Given the description of an element on the screen output the (x, y) to click on. 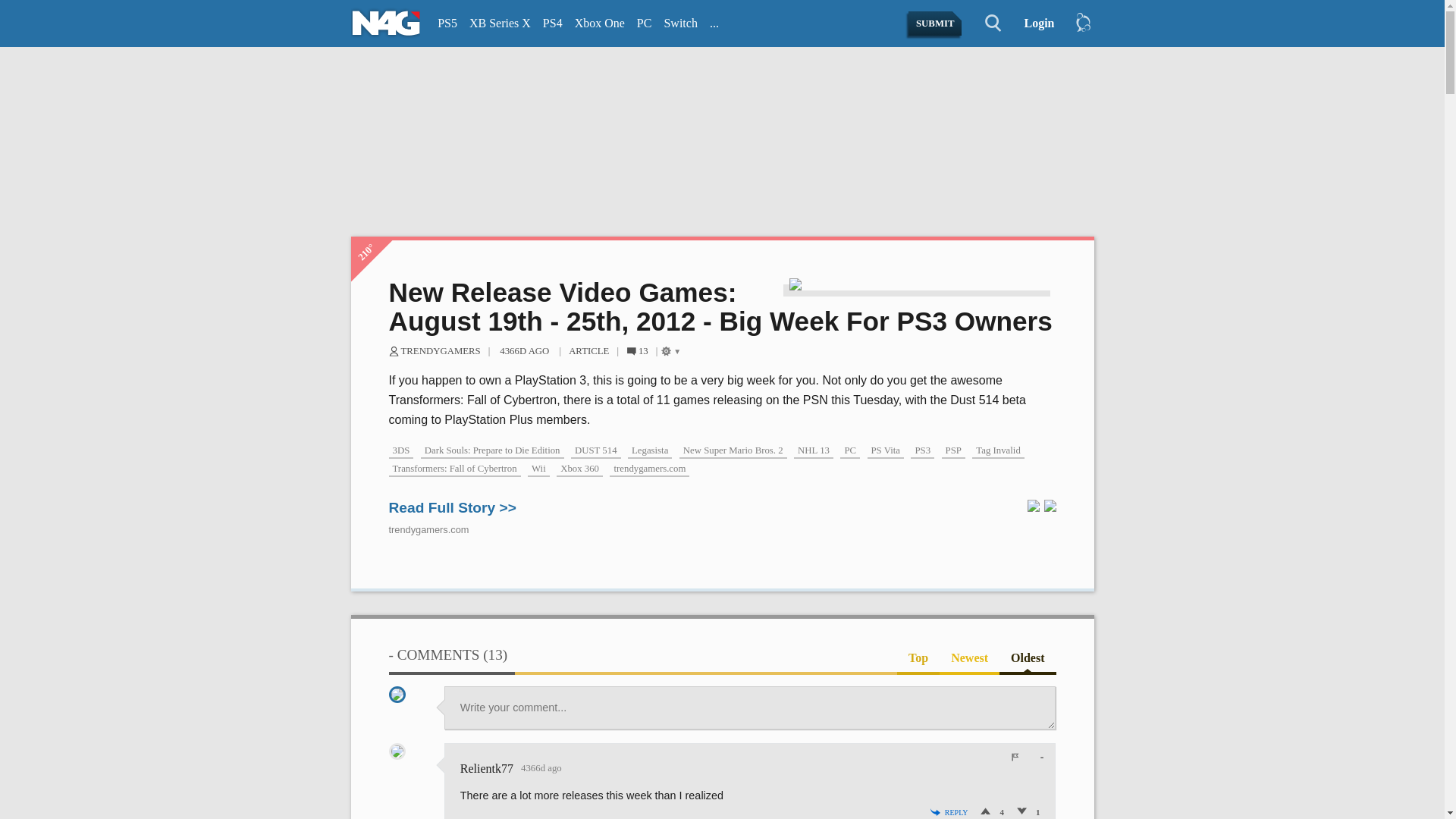
Login (1033, 23)
Search (984, 23)
SUBMIT (935, 23)
PC (644, 24)
XB Series X (500, 24)
Xbox One (599, 24)
PS4 (553, 24)
PS5 (446, 24)
Switch (680, 24)
